Given the description of an element on the screen output the (x, y) to click on. 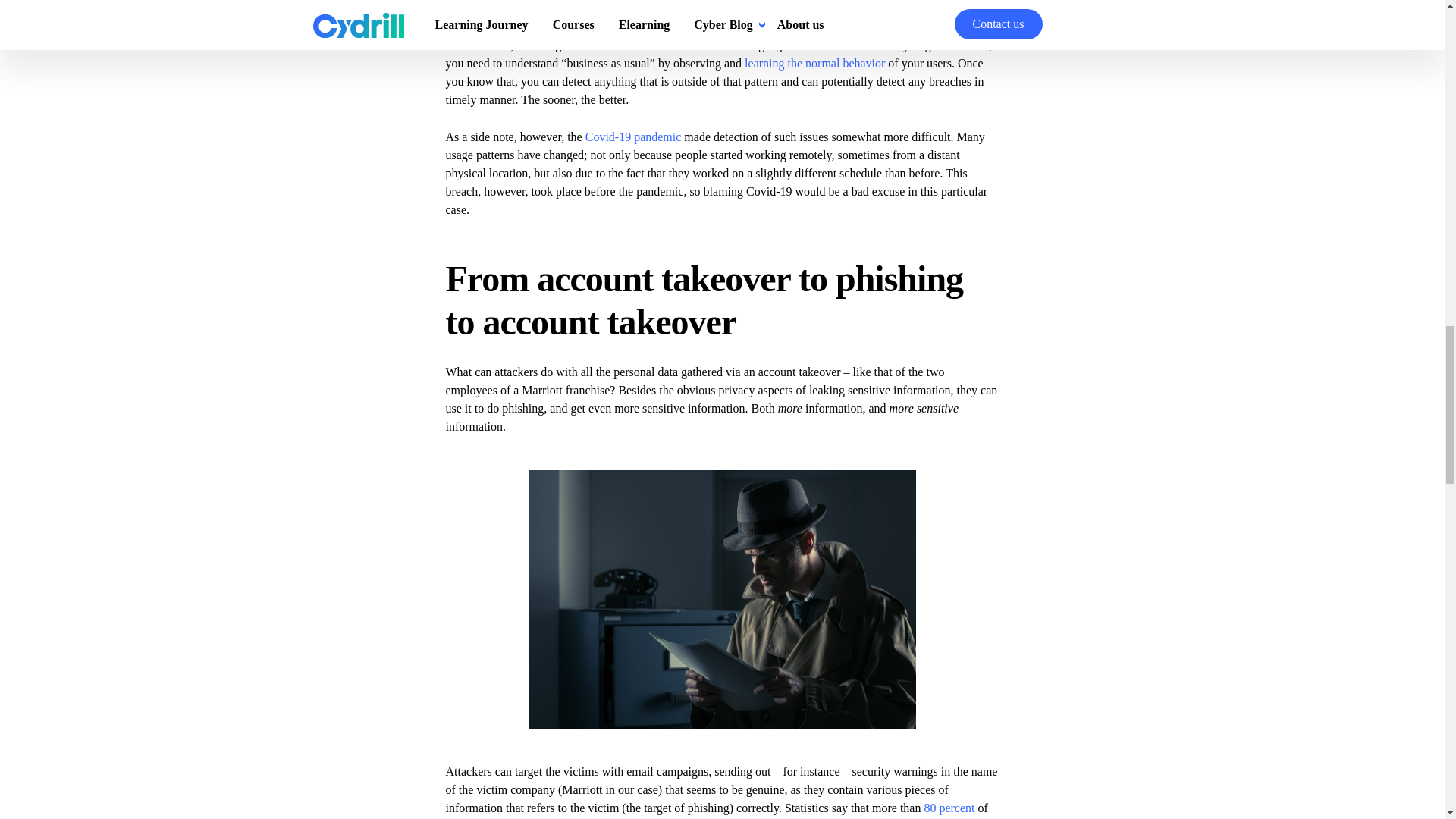
80 percent (948, 807)
Covid-19 pandemic (633, 136)
learning the normal behavior (814, 62)
